Given the description of an element on the screen output the (x, y) to click on. 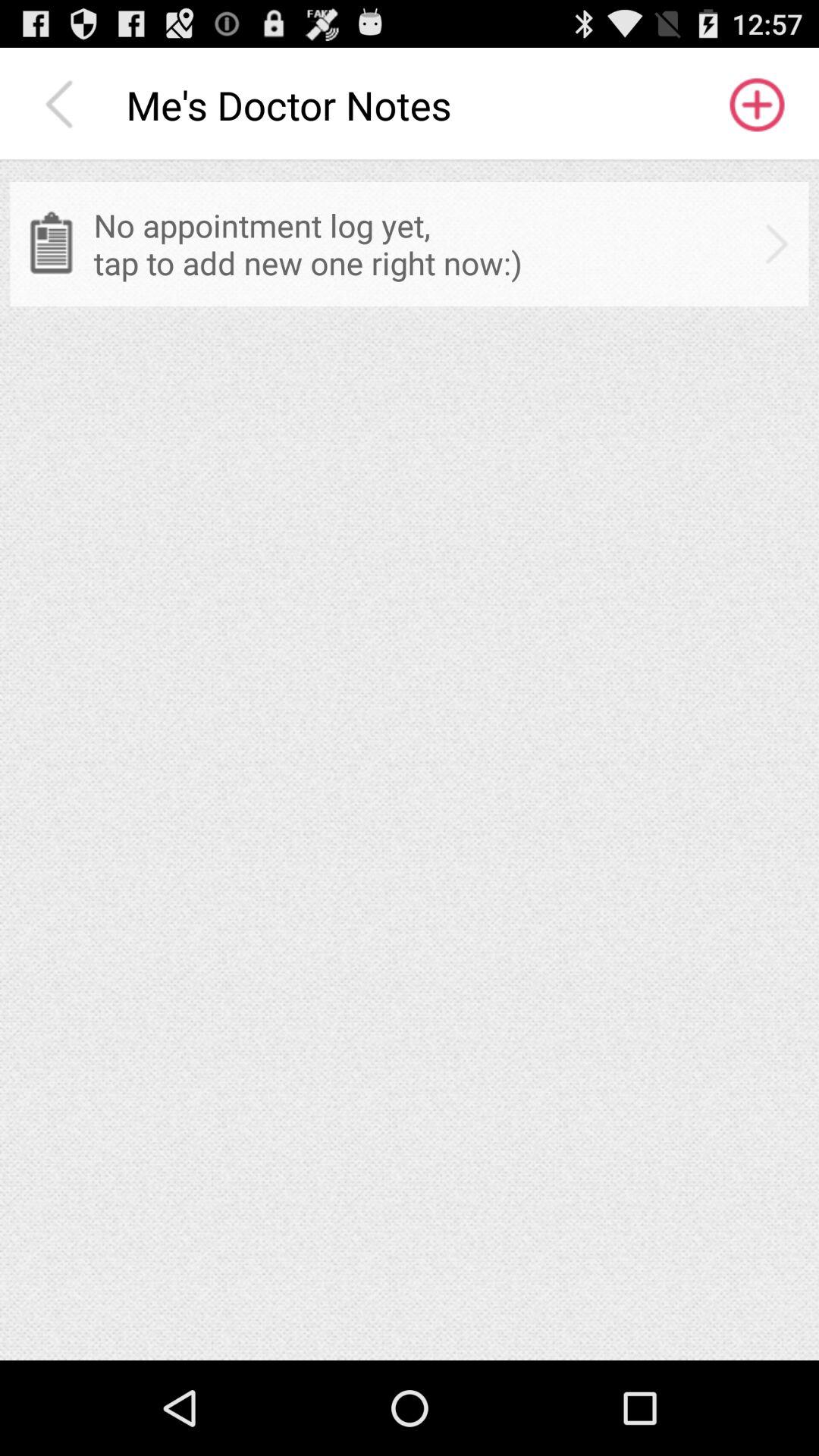
launch the app above no appointment log item (755, 104)
